Given the description of an element on the screen output the (x, y) to click on. 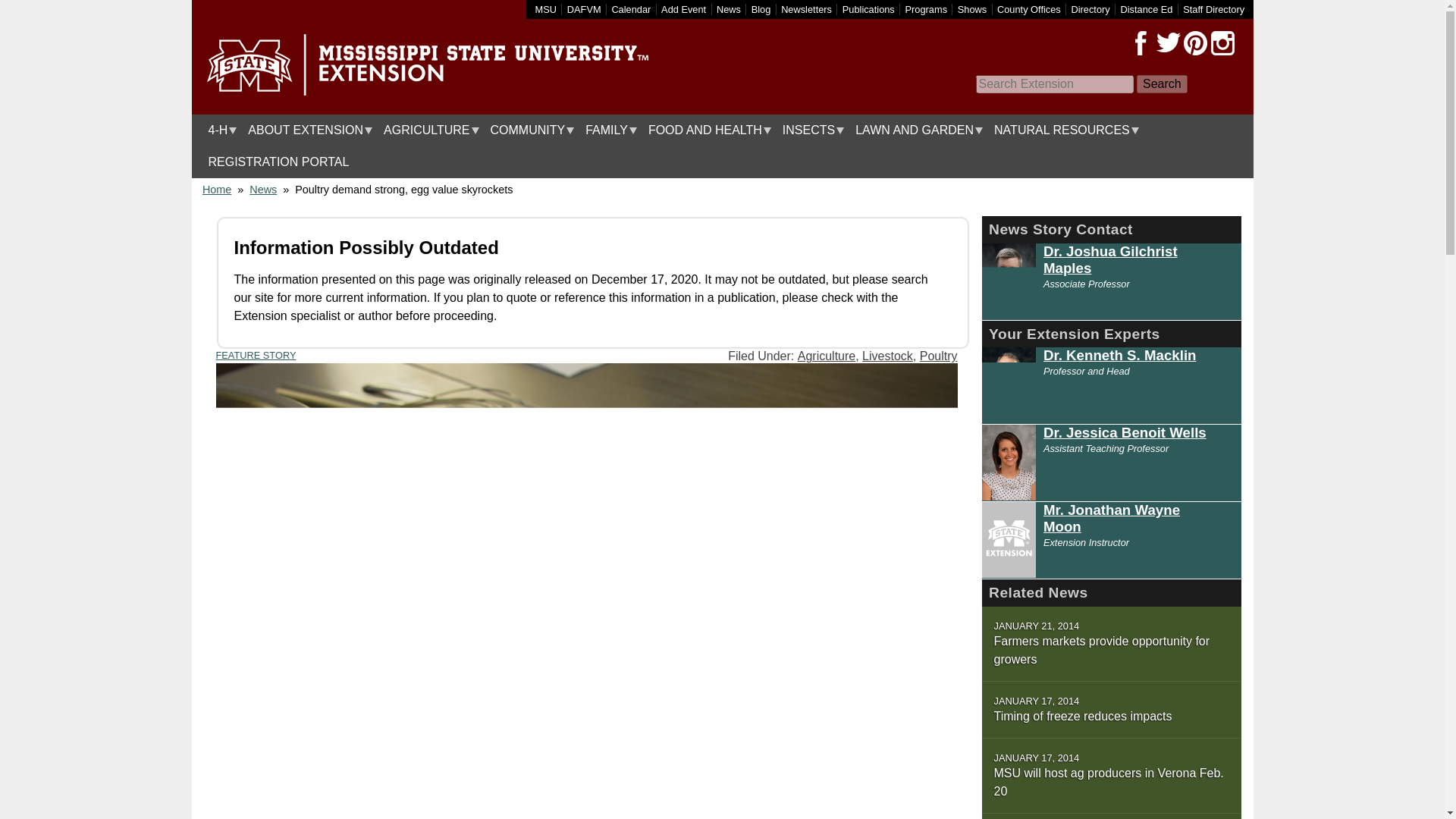
4-H (218, 130)
Directory (1089, 9)
Publications (869, 9)
Search (1162, 84)
The main event calendar for the MSU Extension Service (630, 9)
DAFVM (584, 9)
List of Extension Programs (926, 9)
